Given the description of an element on the screen output the (x, y) to click on. 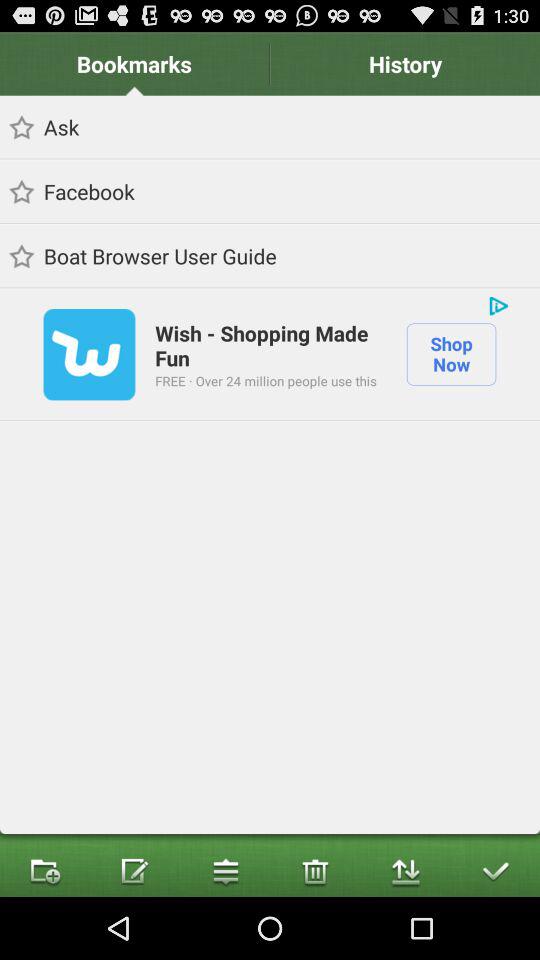
swipe to the wish shopping made (270, 344)
